Given the description of an element on the screen output the (x, y) to click on. 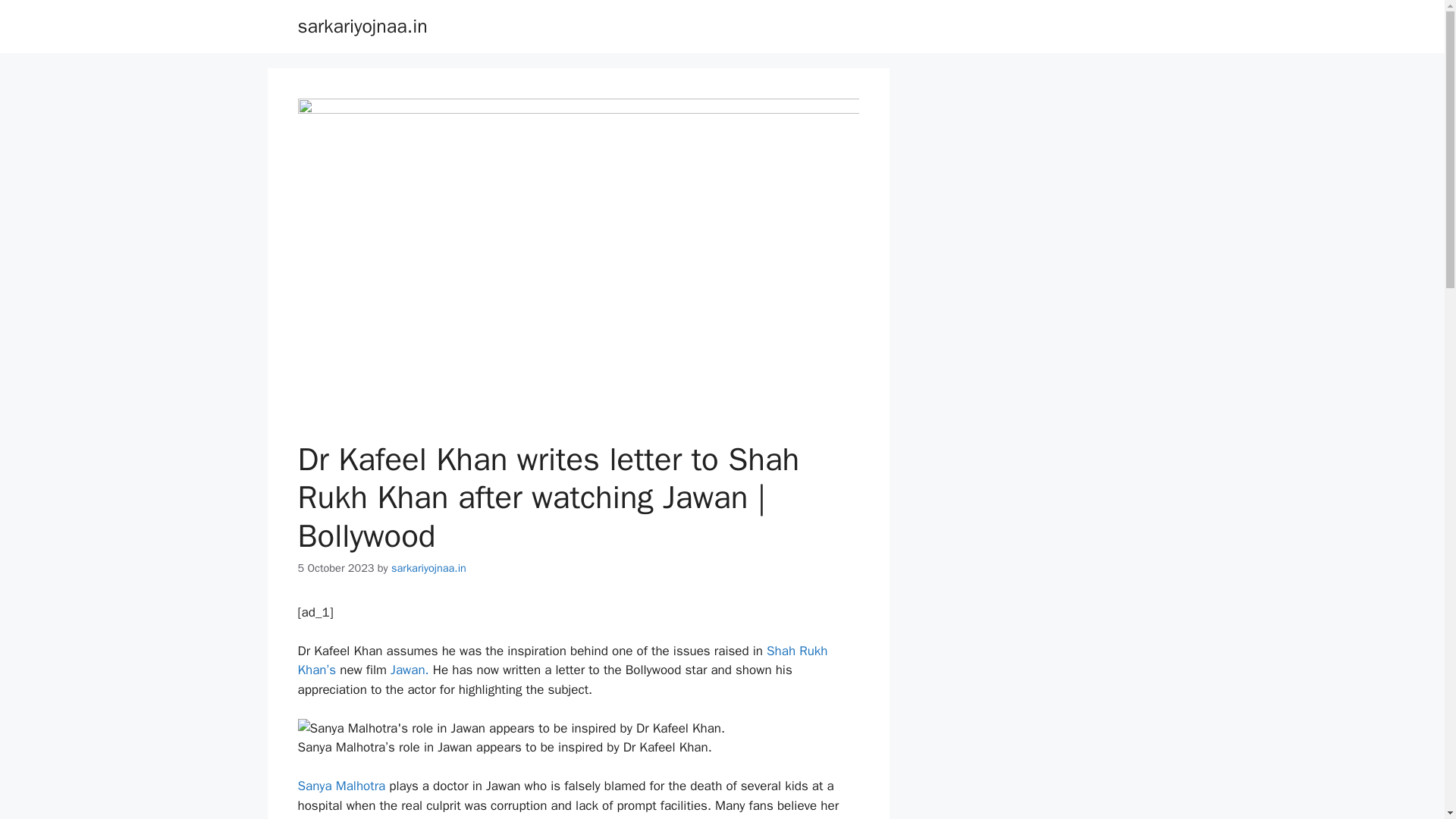
Jawan (407, 669)
sarkariyojnaa.in (361, 25)
Sanya Malhotra (341, 785)
View all posts by sarkariyojnaa.in (428, 567)
sarkariyojnaa.in (428, 567)
